Given the description of an element on the screen output the (x, y) to click on. 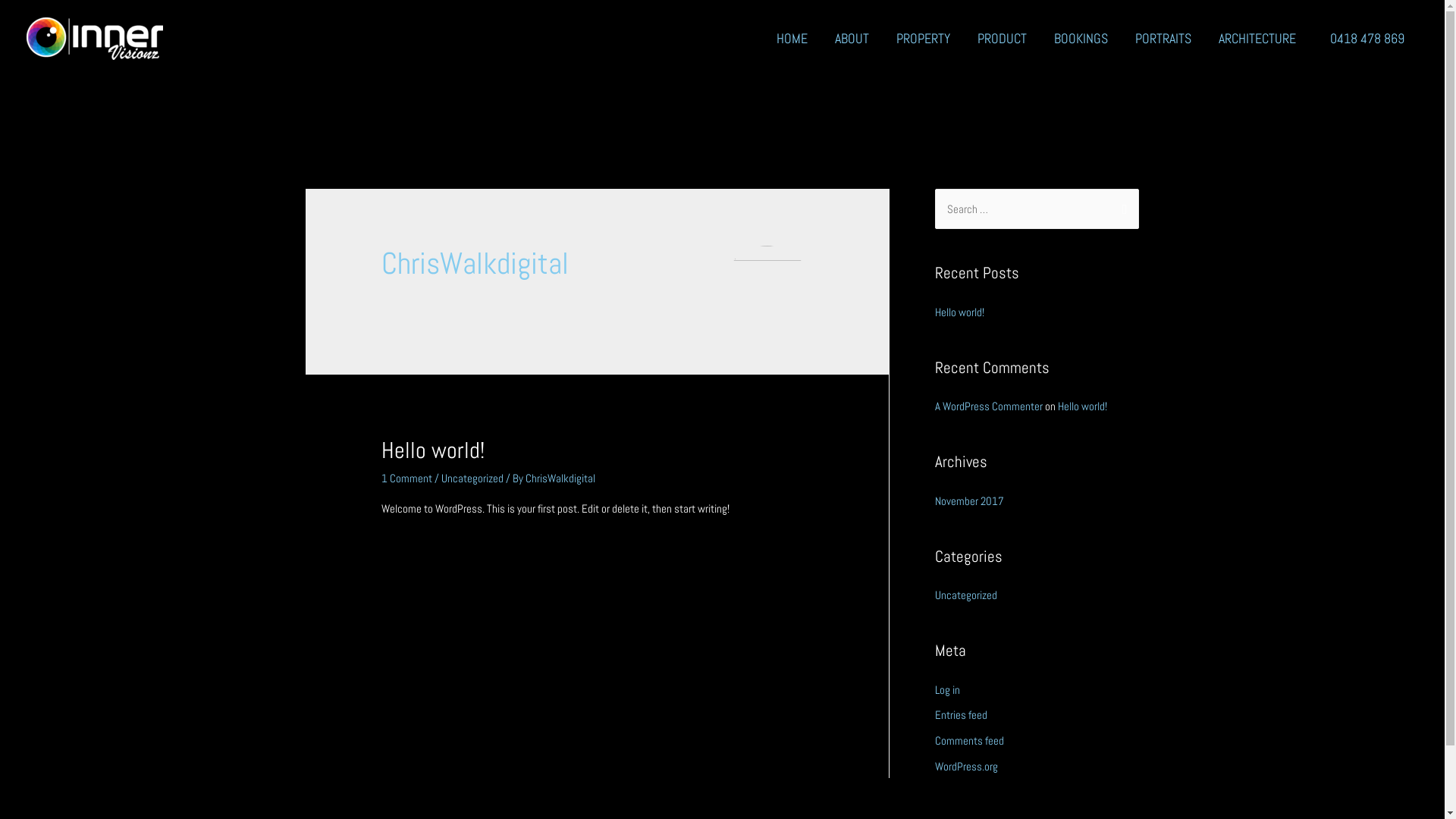
ABOUT Element type: text (851, 38)
PROPERTY Element type: text (922, 38)
Search Element type: text (1121, 208)
A WordPress Commenter Element type: text (987, 405)
Hello world! Element type: text (432, 450)
Hello world! Element type: text (958, 311)
PORTRAITS Element type: text (1162, 38)
WordPress.org Element type: text (965, 766)
November 2017 Element type: text (968, 499)
ChrisWalkdigital Element type: text (560, 477)
BOOKINGS Element type: text (1080, 38)
Uncategorized Element type: text (965, 594)
Entries feed Element type: text (960, 714)
Hello world! Element type: text (1081, 405)
Log in Element type: text (946, 689)
PRODUCT Element type: text (1001, 38)
Comments feed Element type: text (968, 740)
1 Comment Element type: text (406, 477)
Uncategorized Element type: text (472, 477)
HOME Element type: text (791, 38)
ARCHITECTURE Element type: text (1256, 38)
